Given the description of an element on the screen output the (x, y) to click on. 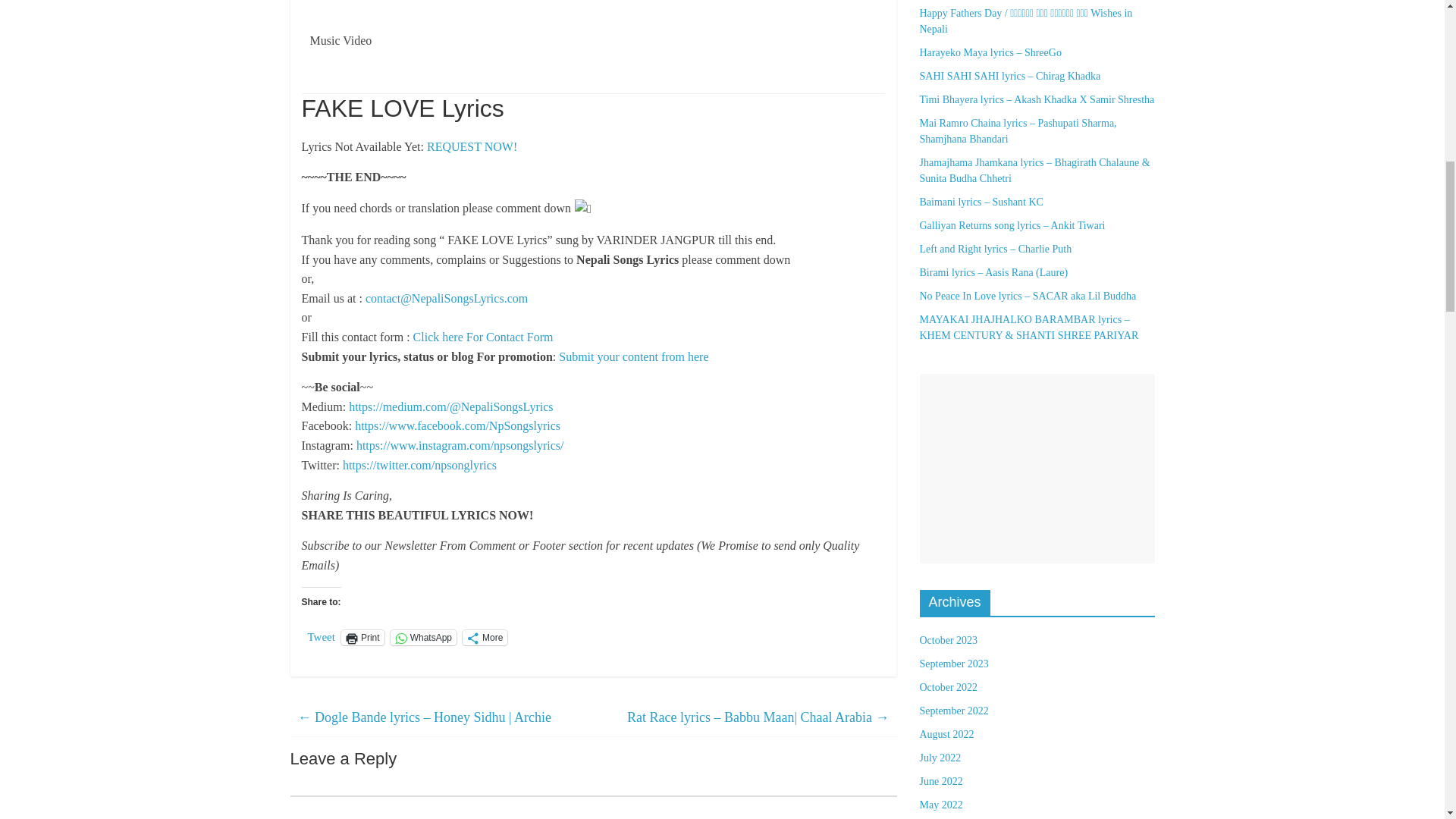
REQUEST NOW! (471, 146)
Click here For Contact Form (483, 336)
Advertisement (1036, 468)
Submit your content from here (633, 356)
Click to share on WhatsApp (423, 637)
Click to print (362, 637)
